Given the description of an element on the screen output the (x, y) to click on. 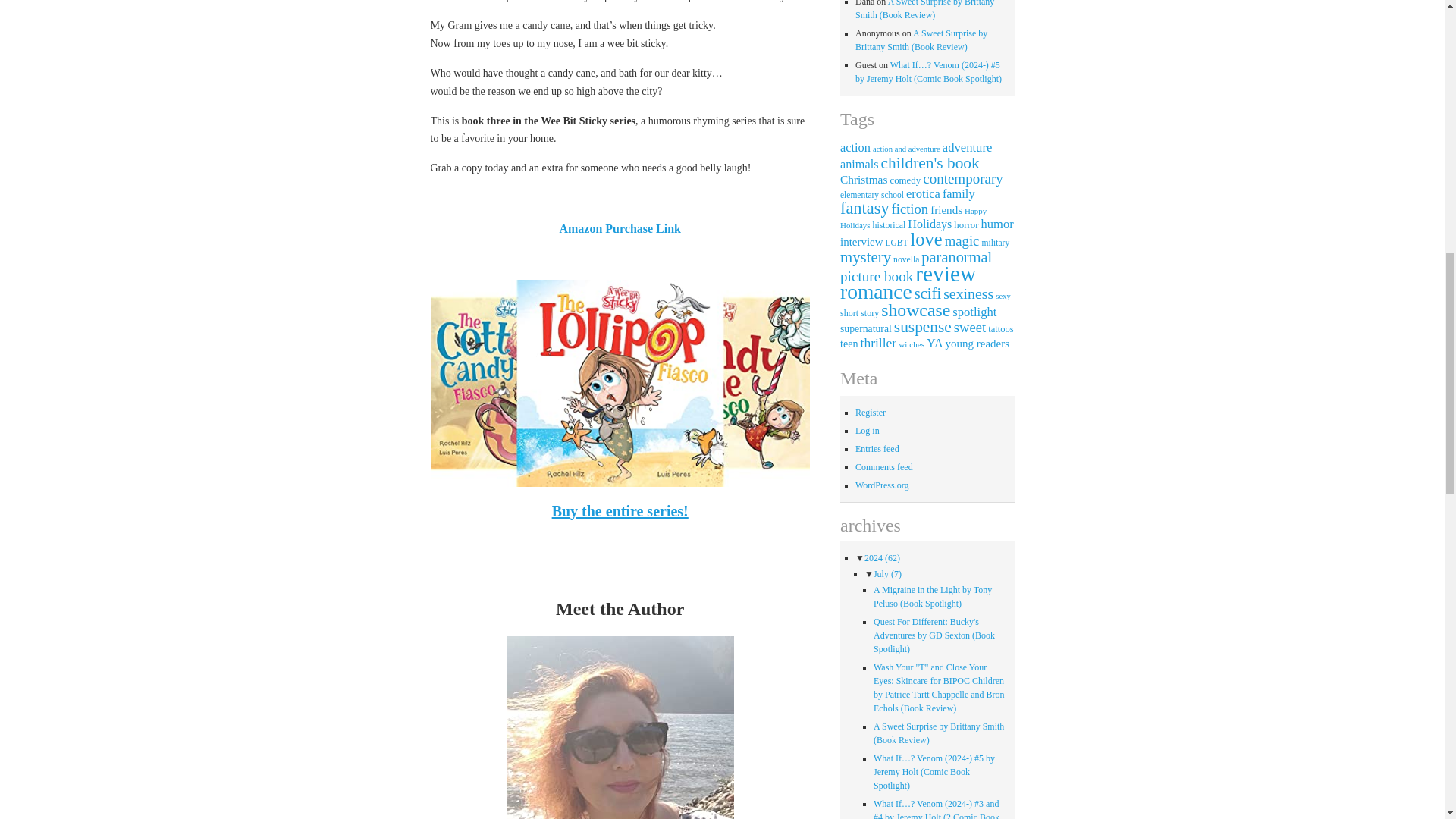
July (887, 573)
Quest For Different: Bucky (933, 635)
Buy the entire series! (619, 510)
Amazon Purchase Link (620, 228)
